Given the description of an element on the screen output the (x, y) to click on. 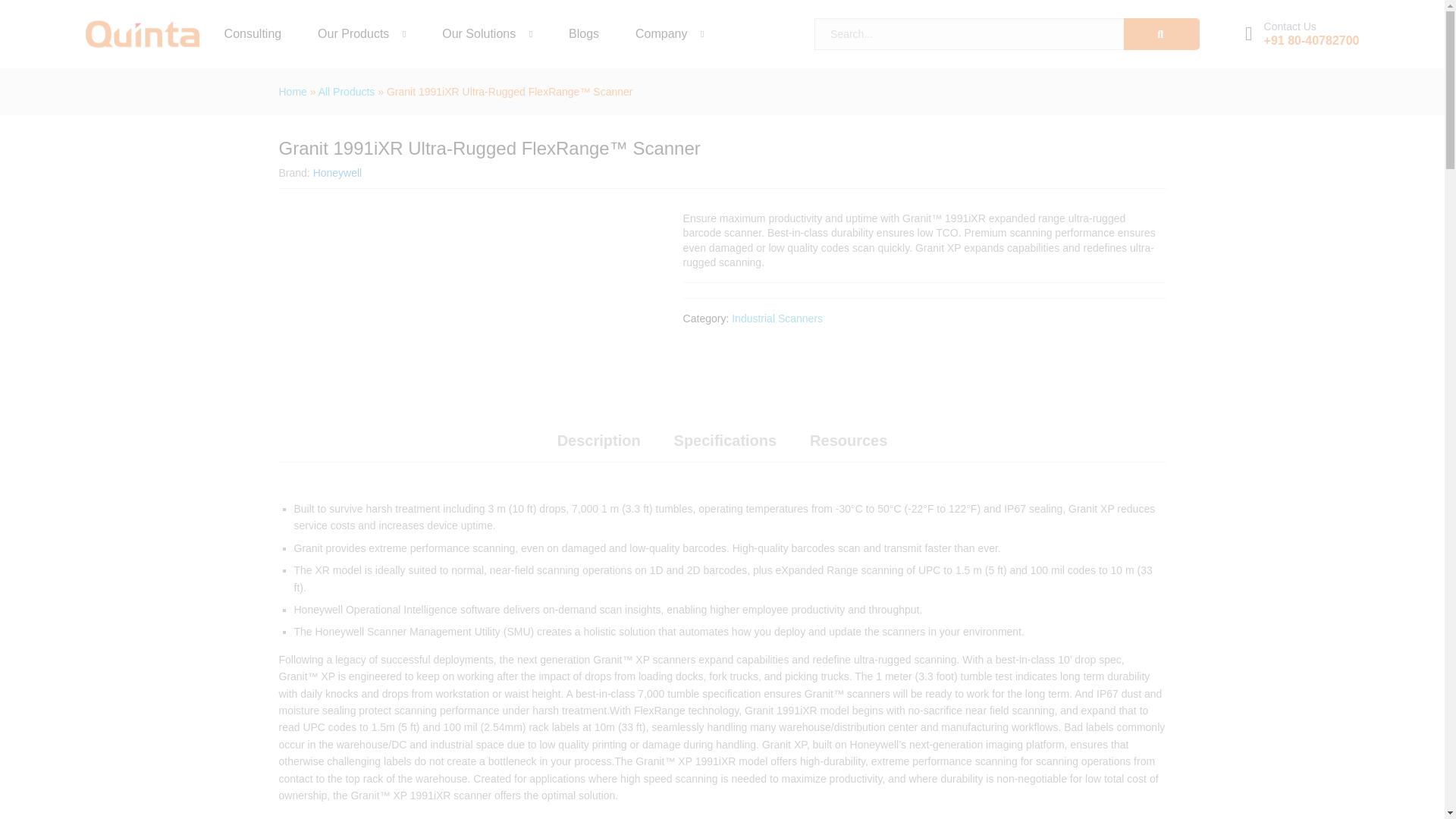
Consulting (253, 33)
Our Solutions (478, 33)
Our Products (352, 33)
